Given the description of an element on the screen output the (x, y) to click on. 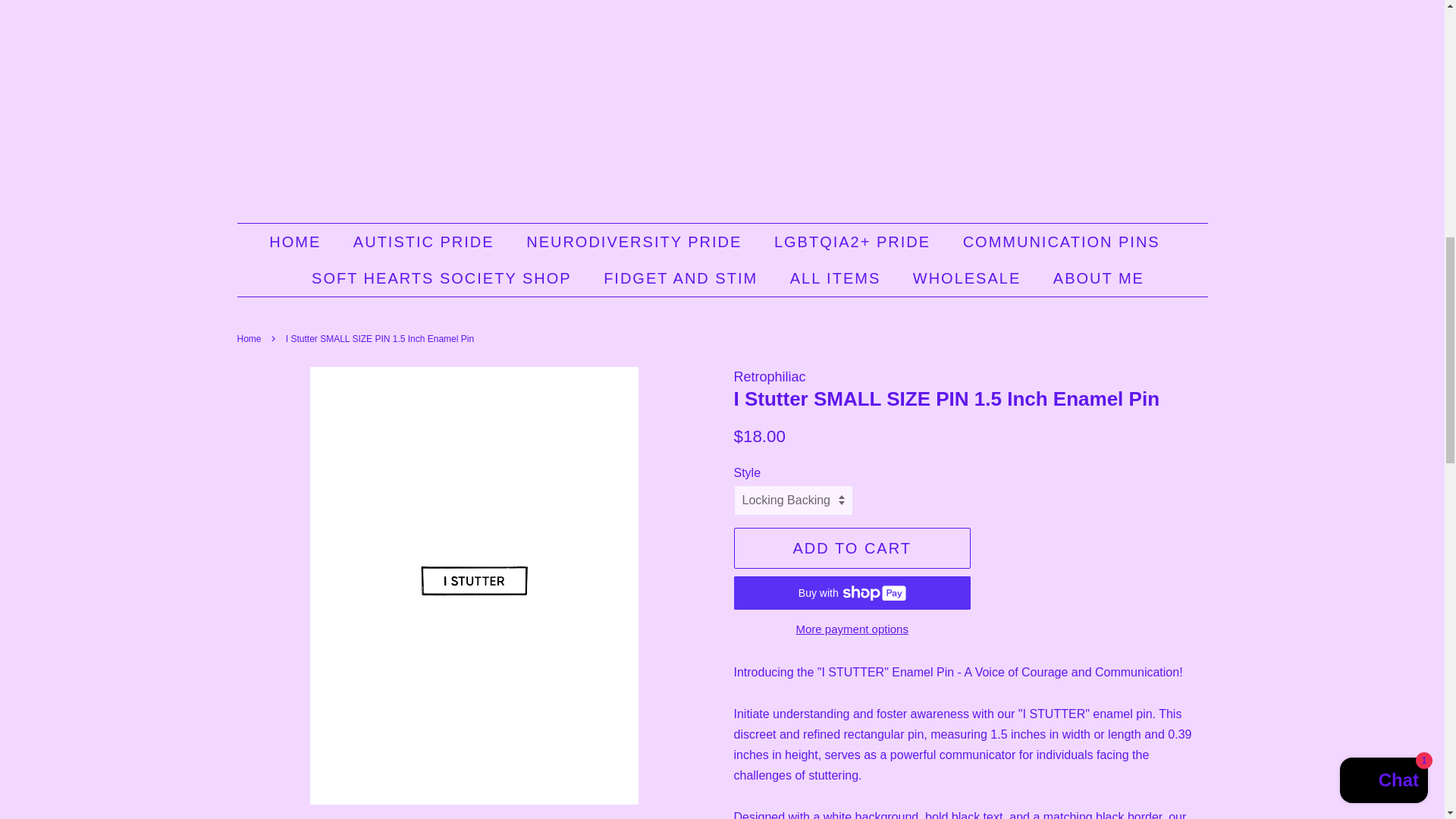
NEURODIVERSITY PRIDE (636, 241)
WHOLESALE (968, 278)
HOME (302, 241)
Home (249, 338)
COMMUNICATION PINS (1063, 241)
ALL ITEMS (837, 278)
ABOUT ME (1093, 278)
SOFT HEARTS SOCIETY SHOP (442, 278)
More payment options (852, 628)
AUTISTIC PRIDE (425, 241)
ADD TO CART (852, 547)
Back to the frontpage (249, 338)
FIDGET AND STIM (682, 278)
